Given the description of an element on the screen output the (x, y) to click on. 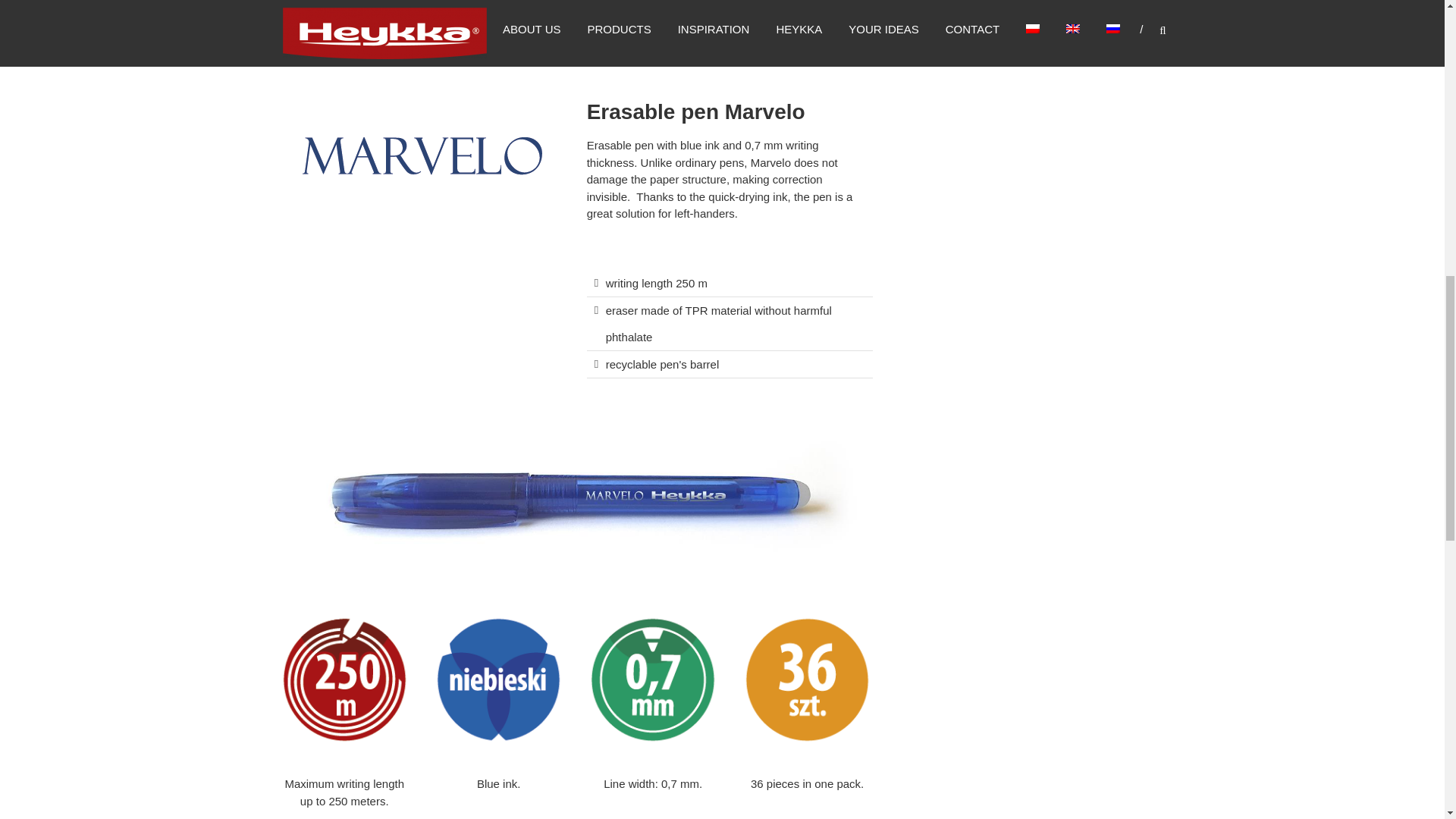
Obszar roboczy 2 kopia 16 (344, 679)
Obszar roboczy 2 kopia 17 (498, 679)
Marvelo Heykka dlugopis wymazywalny l (576, 495)
Obszar roboczy 2 kopia 19 (806, 679)
Obszar roboczy 2 kopia 18 (651, 679)
